Given the description of an element on the screen output the (x, y) to click on. 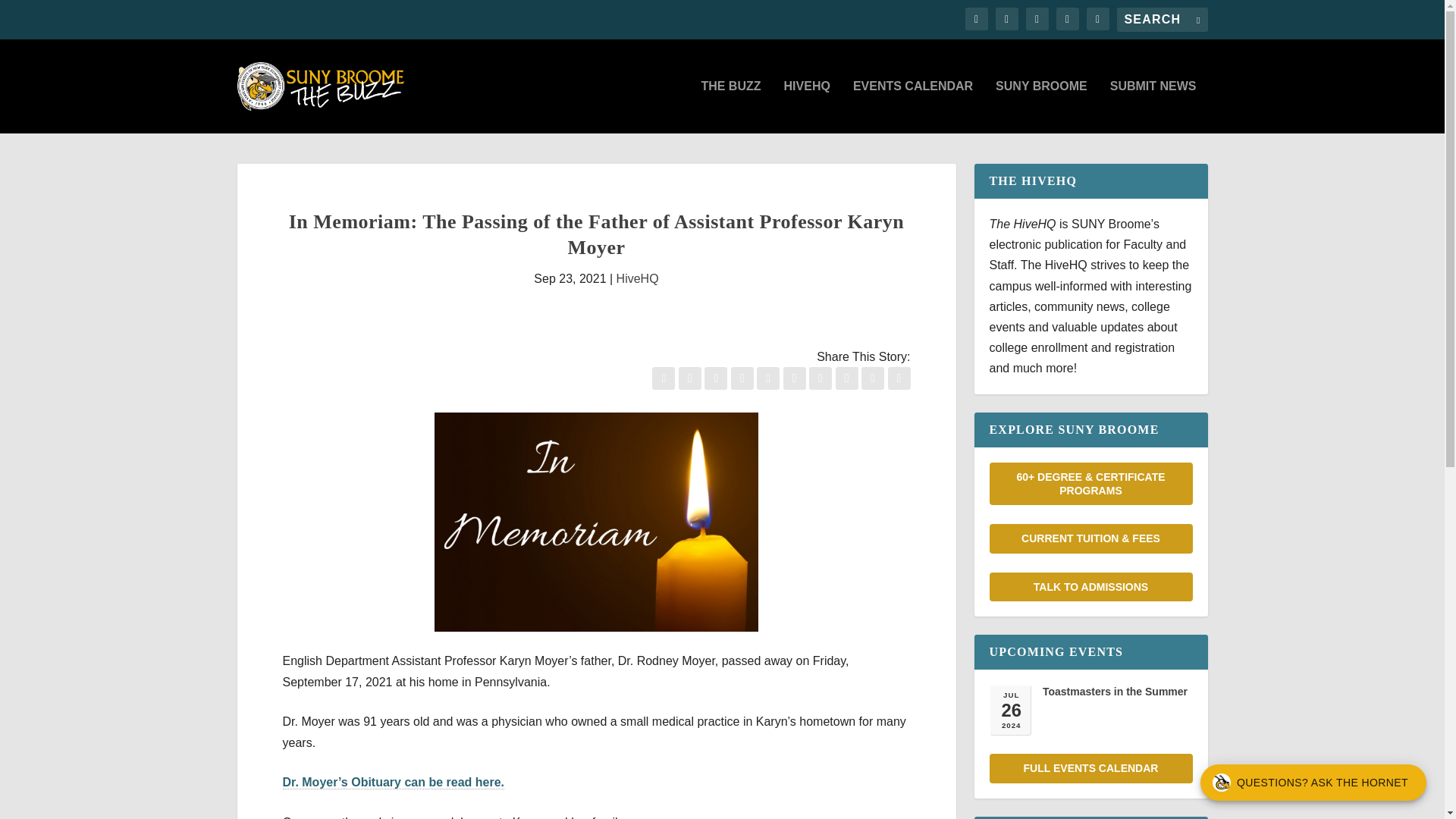
SUBMIT NEWS (1152, 106)
Search for: (1161, 19)
SUNY BROOME (1041, 106)
THE BUZZ (730, 106)
HiveHQ (637, 278)
EVENTS CALENDAR (912, 106)
